Given the description of an element on the screen output the (x, y) to click on. 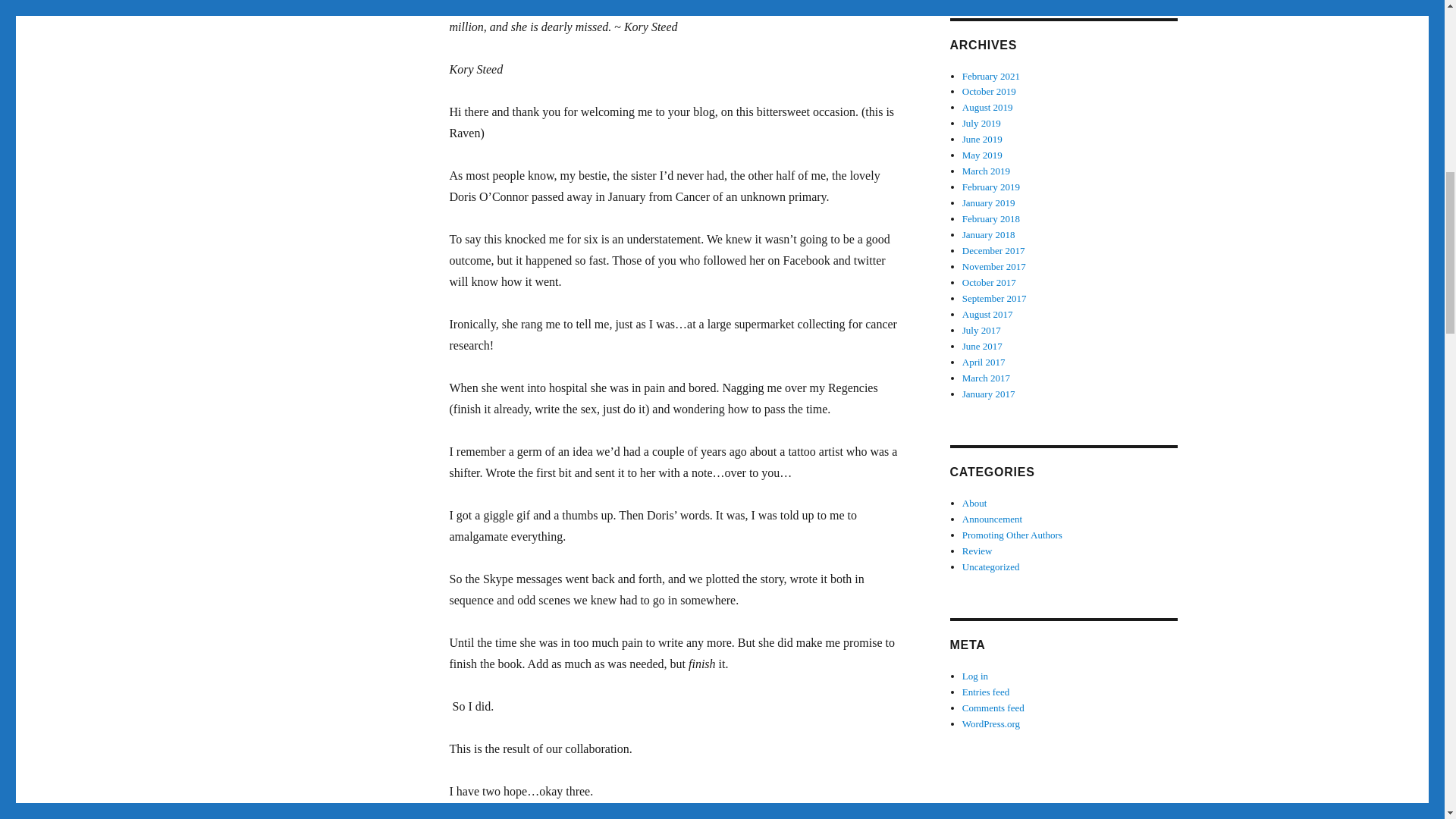
January 2019 (988, 202)
February 2018 (991, 218)
October 2019 (989, 91)
July 2019 (981, 122)
January 2018 (988, 234)
March 2019 (986, 170)
August 2019 (987, 107)
May 2019 (982, 154)
February 2019 (991, 186)
February 2021 (991, 75)
